Given the description of an element on the screen output the (x, y) to click on. 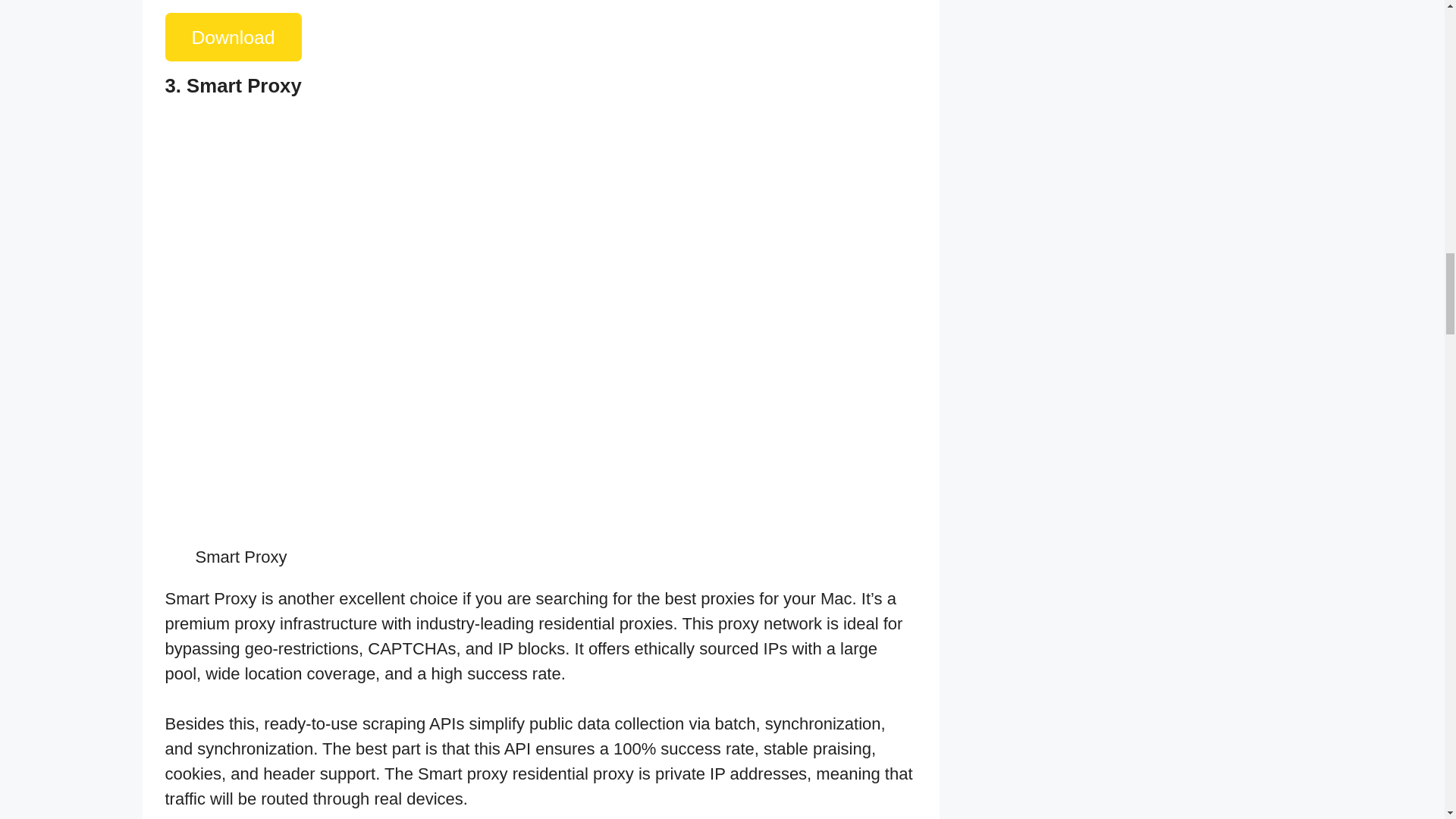
Download (233, 37)
